Given the description of an element on the screen output the (x, y) to click on. 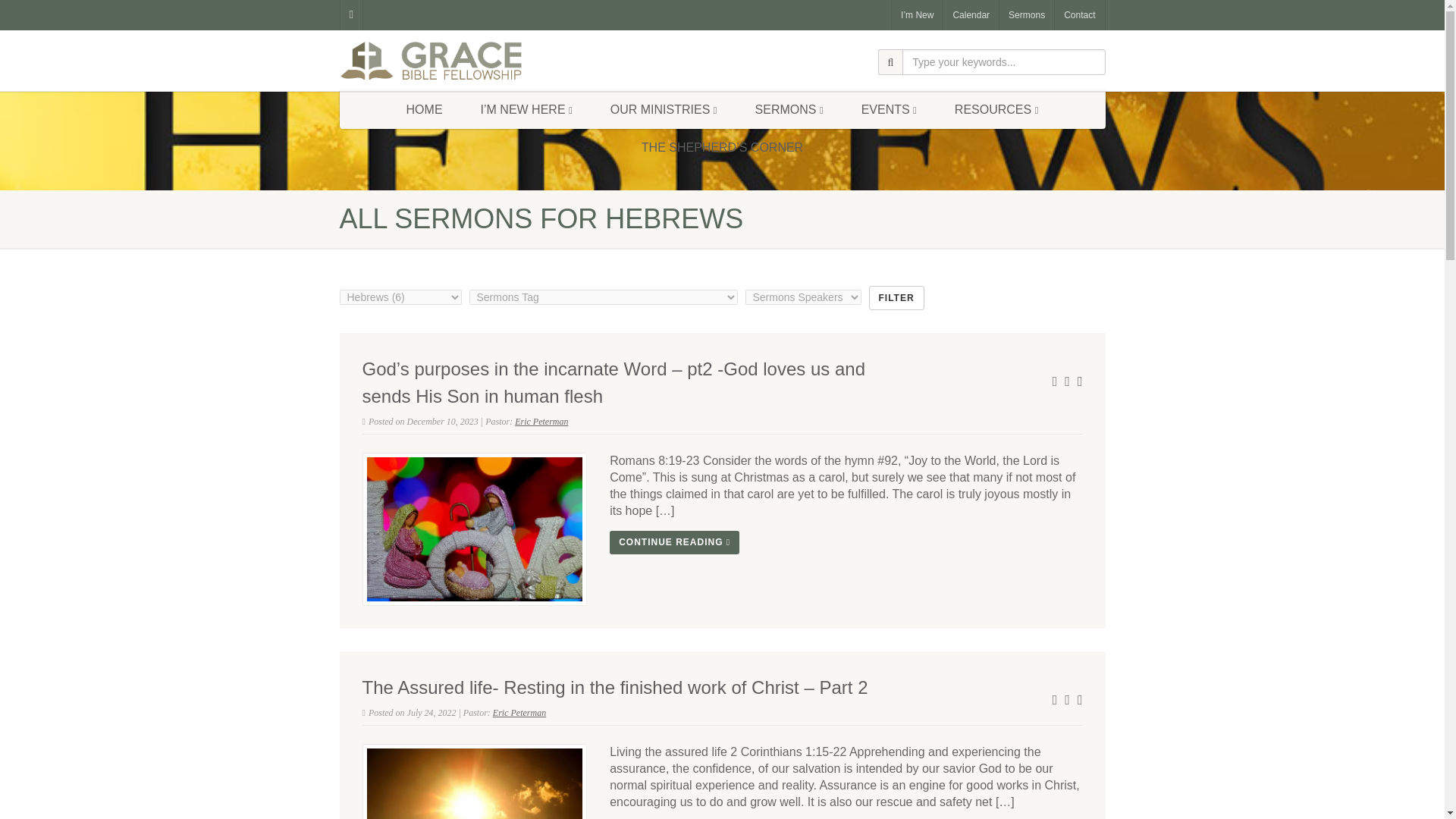
SERMONS (789, 109)
RESOURCES (997, 109)
Contact (1079, 15)
EVENTS (889, 109)
HOME (424, 109)
OUR MINISTRIES (663, 109)
GRACE BIBLE FELLOWSHIP (459, 61)
Filter (896, 297)
Calendar (970, 15)
Sermons (1026, 15)
Filter (896, 297)
